Given the description of an element on the screen output the (x, y) to click on. 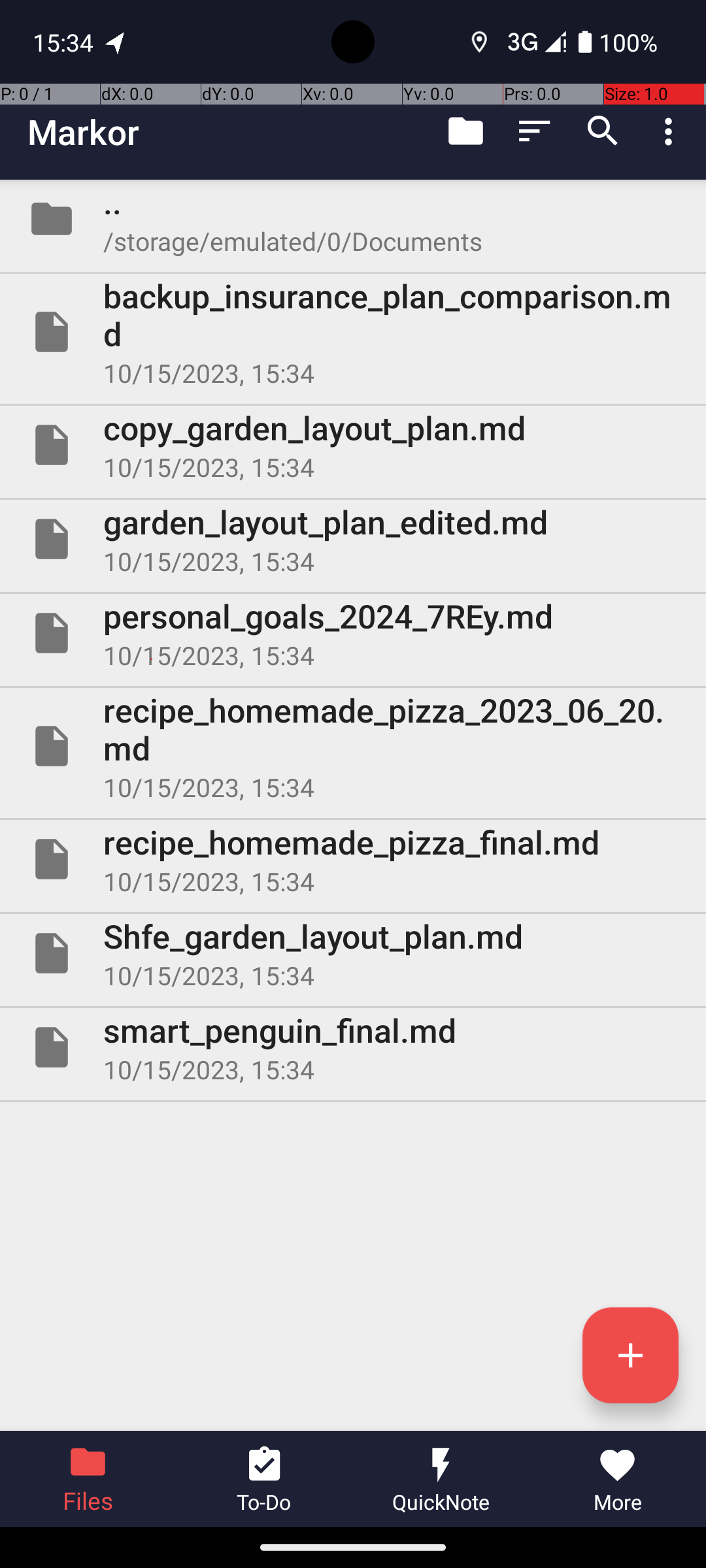
Create a new file or folder Element type: android.widget.ImageButton (630, 1355)
Go to Element type: android.widget.TextView (465, 131)
Folder ..  Element type: android.widget.LinearLayout (353, 218)
File backup_insurance_plan_comparison.md  Element type: android.widget.LinearLayout (353, 331)
File copy_garden_layout_plan.md  Element type: android.widget.LinearLayout (353, 444)
File garden_layout_plan_edited.md  Element type: android.widget.LinearLayout (353, 538)
File personal_goals_2024_7REy.md  Element type: android.widget.LinearLayout (353, 632)
File recipe_homemade_pizza_2023_06_20.md  Element type: android.widget.LinearLayout (353, 745)
File recipe_homemade_pizza_final.md  Element type: android.widget.LinearLayout (353, 858)
File Shfe_garden_layout_plan.md  Element type: android.widget.LinearLayout (353, 953)
File smart_penguin_final.md  Element type: android.widget.LinearLayout (353, 1047)
